Given the description of an element on the screen output the (x, y) to click on. 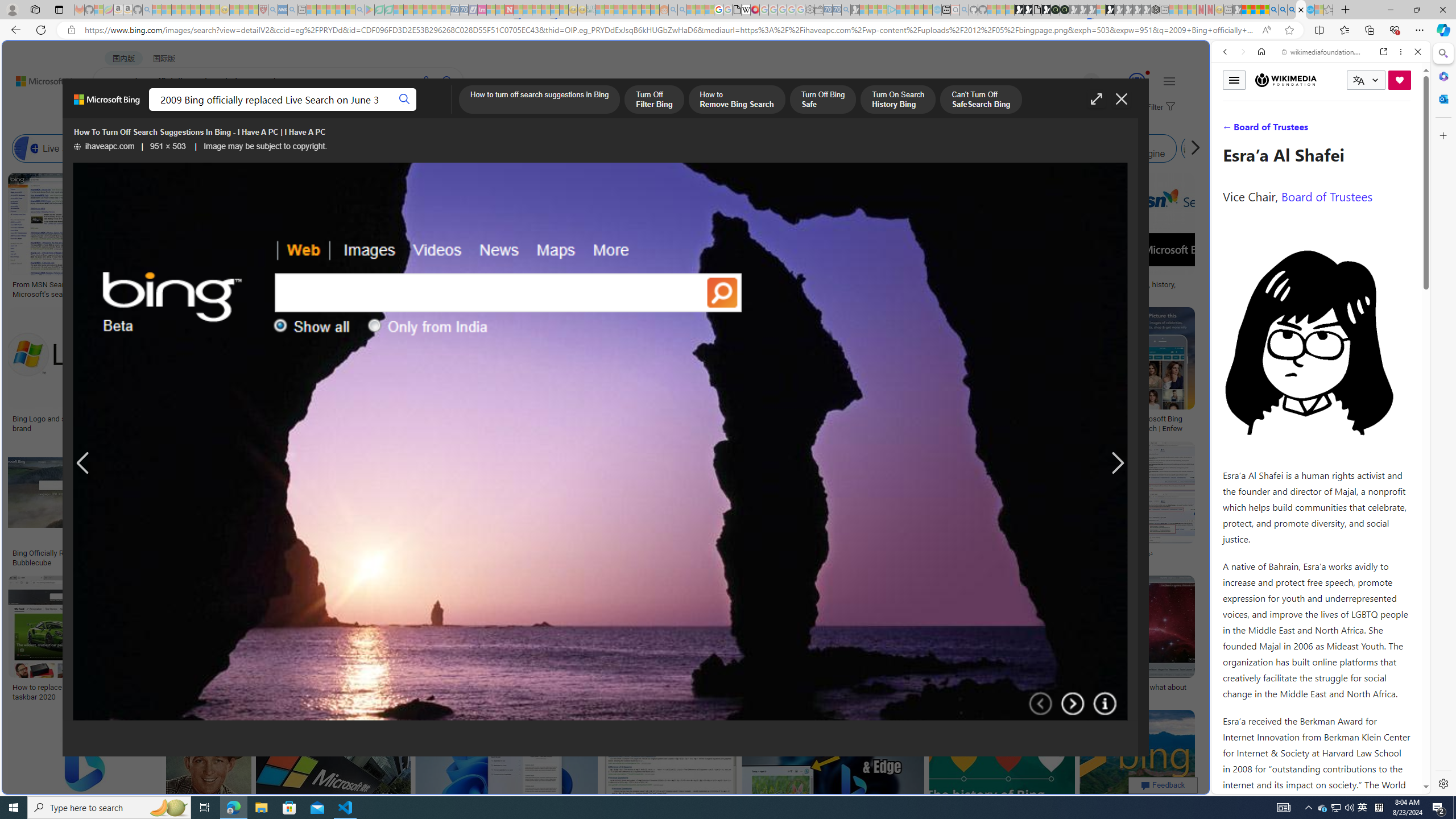
Settings and quick links (1168, 80)
Search or enter web address (922, 108)
Robert H. Shmerling, MD - Harvard Health - Sleeping (263, 9)
Scroll right (1192, 148)
14 Common Myths Debunked By Scientific Facts - Sleeping (527, 9)
